Given the description of an element on the screen output the (x, y) to click on. 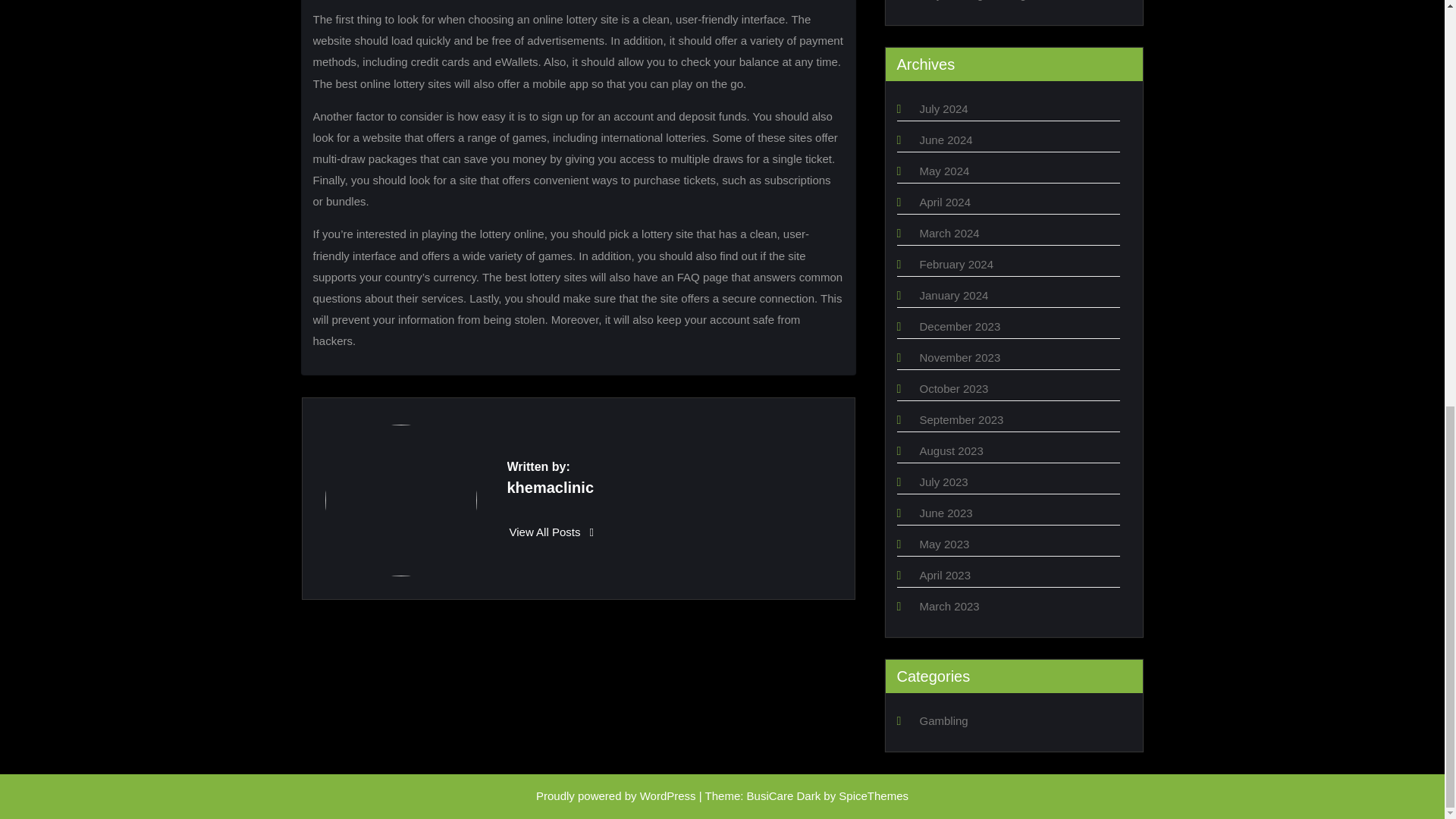
November 2023 (959, 357)
April 2024 (944, 201)
May 2024 (943, 170)
February 2024 (955, 264)
SpiceThemes (873, 795)
July 2023 (943, 481)
August 2023 (950, 450)
June 2023 (945, 512)
May 2023 (943, 543)
January 2024 (953, 295)
BusiCare Dark (783, 795)
WordPress (667, 795)
April 2023 (944, 574)
December 2023 (959, 326)
